Given the description of an element on the screen output the (x, y) to click on. 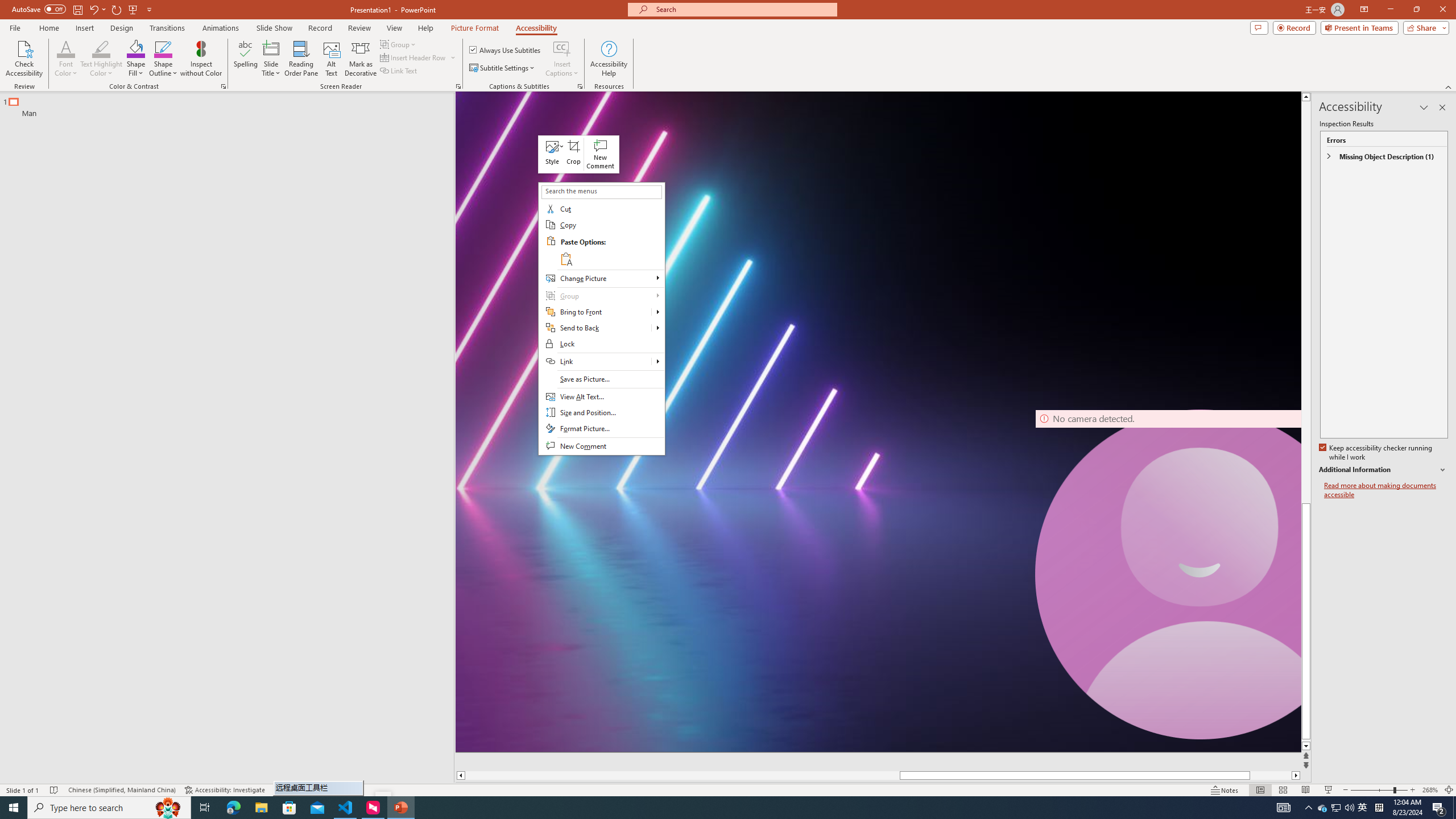
Bring to Front (594, 312)
Class: NetUIAnchor (552, 154)
Inspect without Color (201, 58)
Lock (600, 343)
Accessibility Help (608, 58)
